Given the description of an element on the screen output the (x, y) to click on. 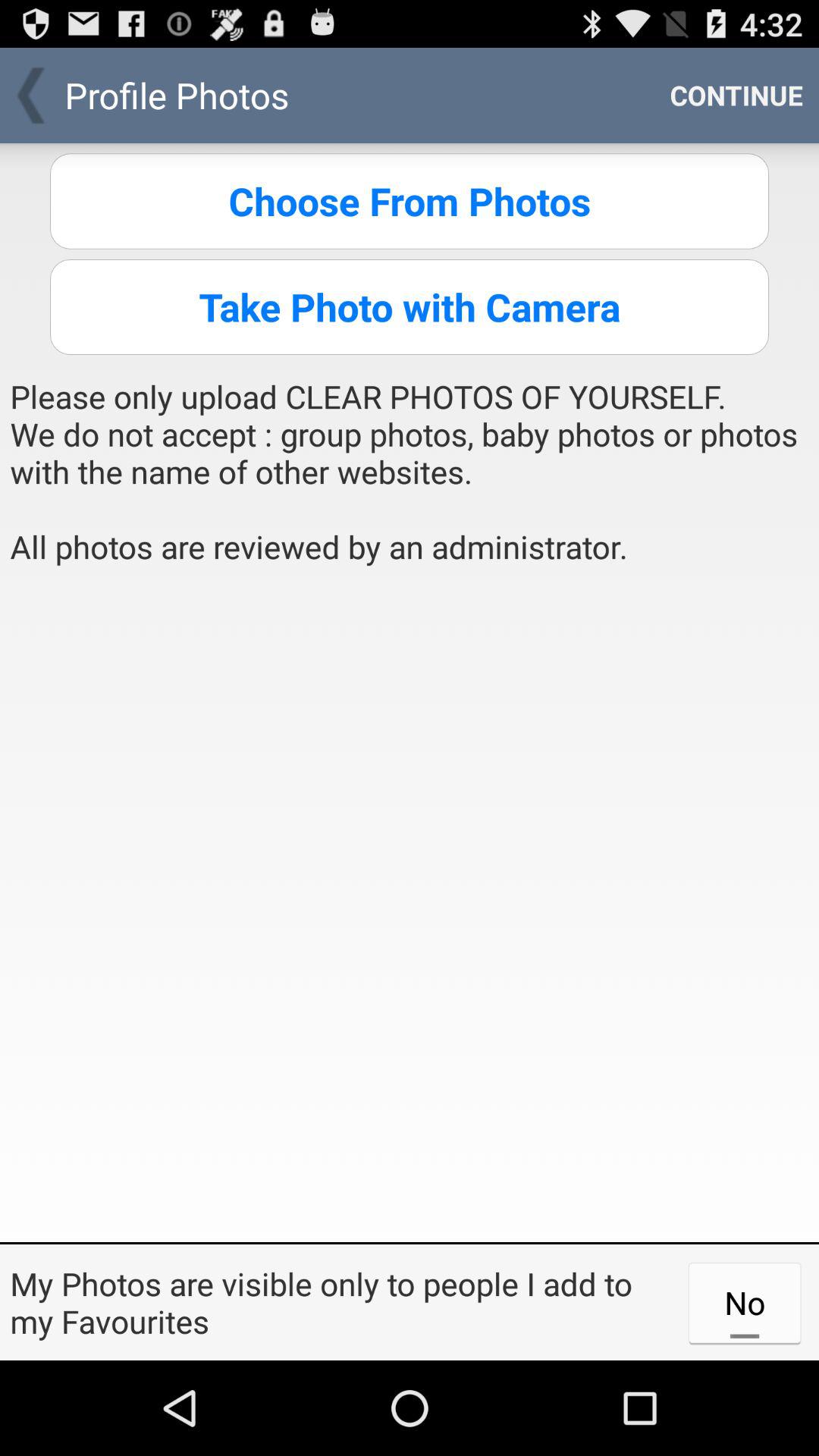
click the item above choose from photos (736, 95)
